Given the description of an element on the screen output the (x, y) to click on. 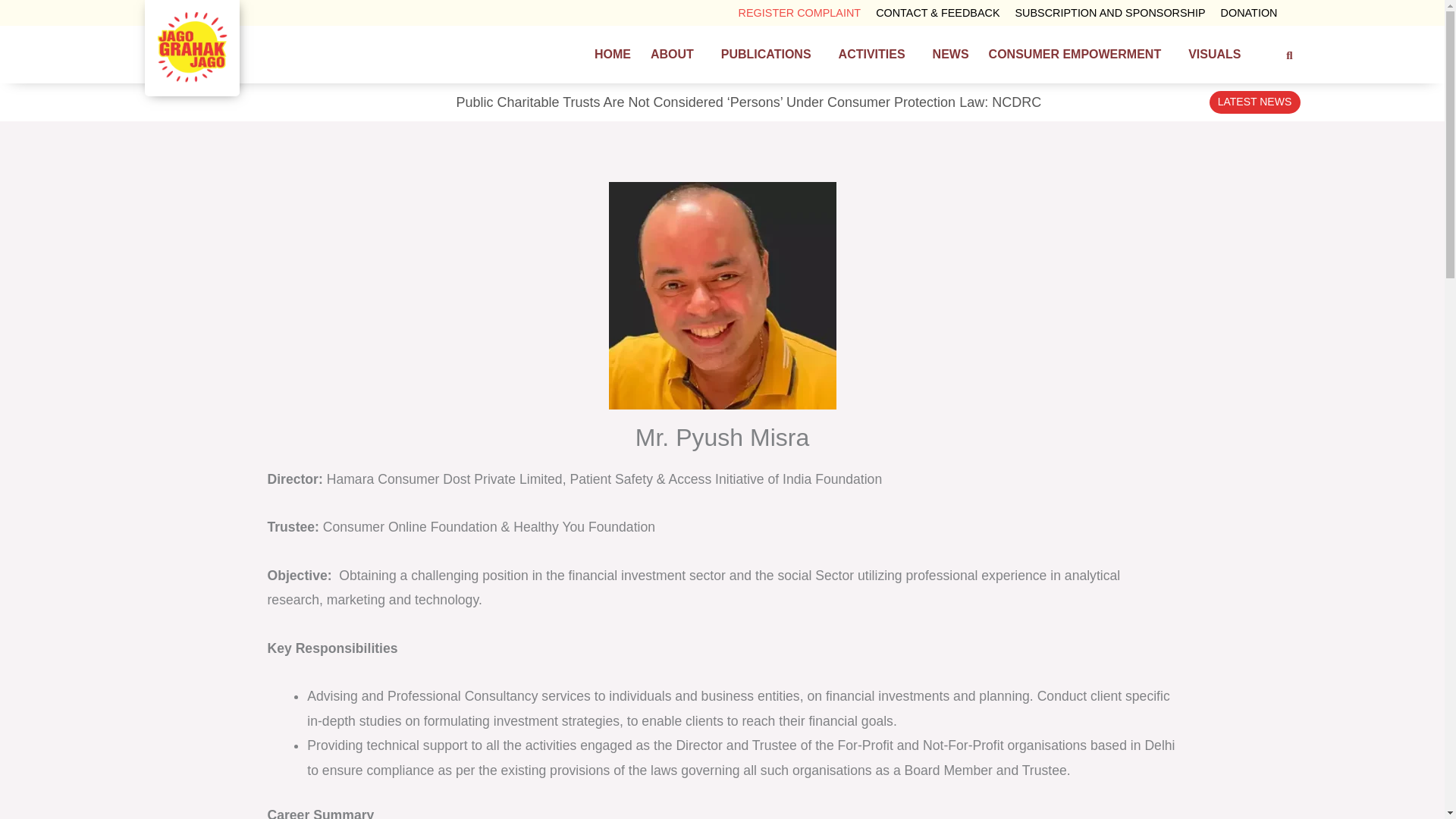
HOME (612, 54)
ACTIVITIES (875, 54)
DONATION (1248, 12)
REGISTER COMPLAINT (799, 12)
PUBLICATIONS (769, 54)
SUBSCRIPTION AND SPONSORSHIP (1109, 12)
ABOUT (675, 54)
